Given the description of an element on the screen output the (x, y) to click on. 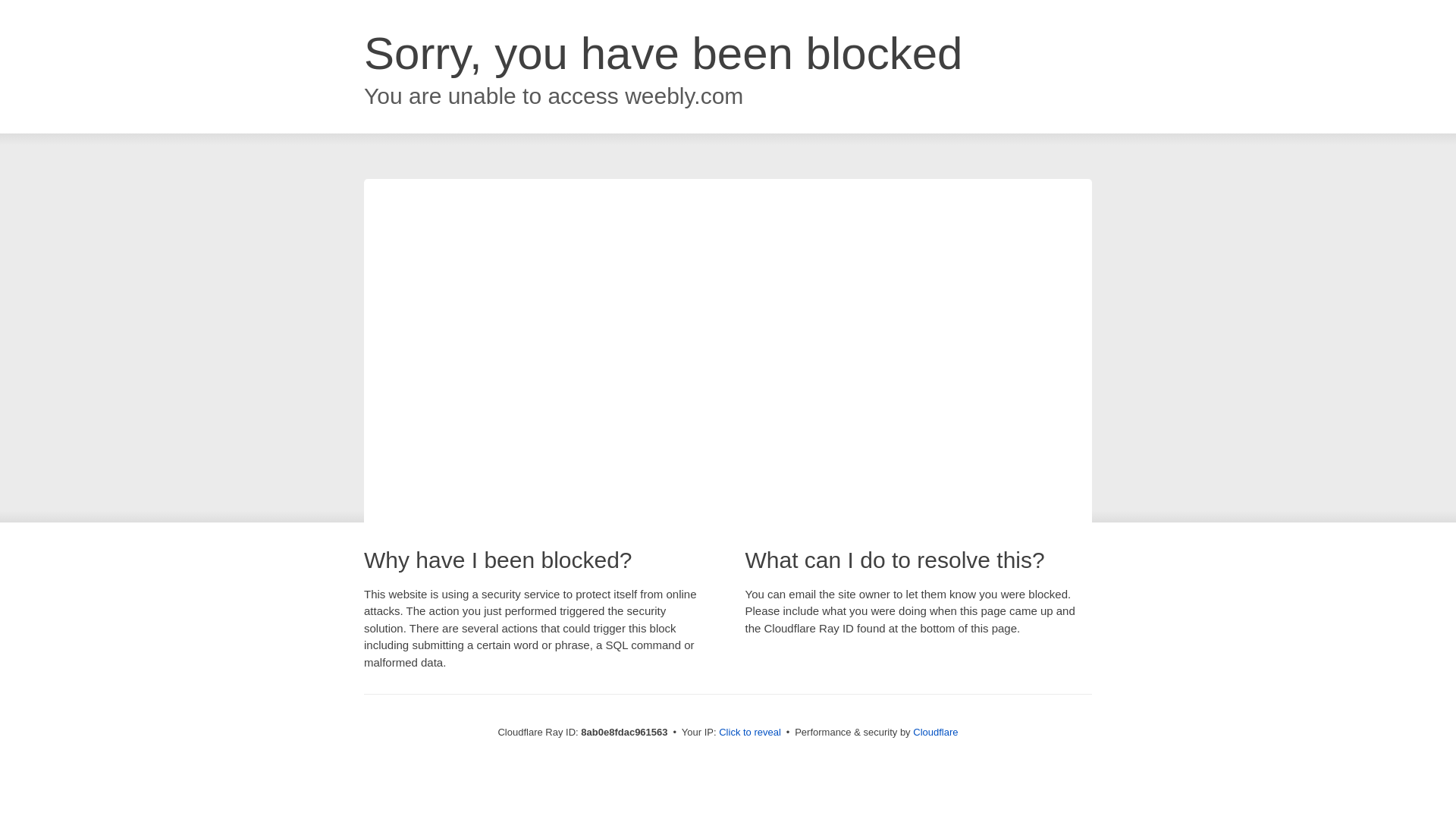
Click to reveal (749, 732)
Cloudflare (935, 731)
